Given the description of an element on the screen output the (x, y) to click on. 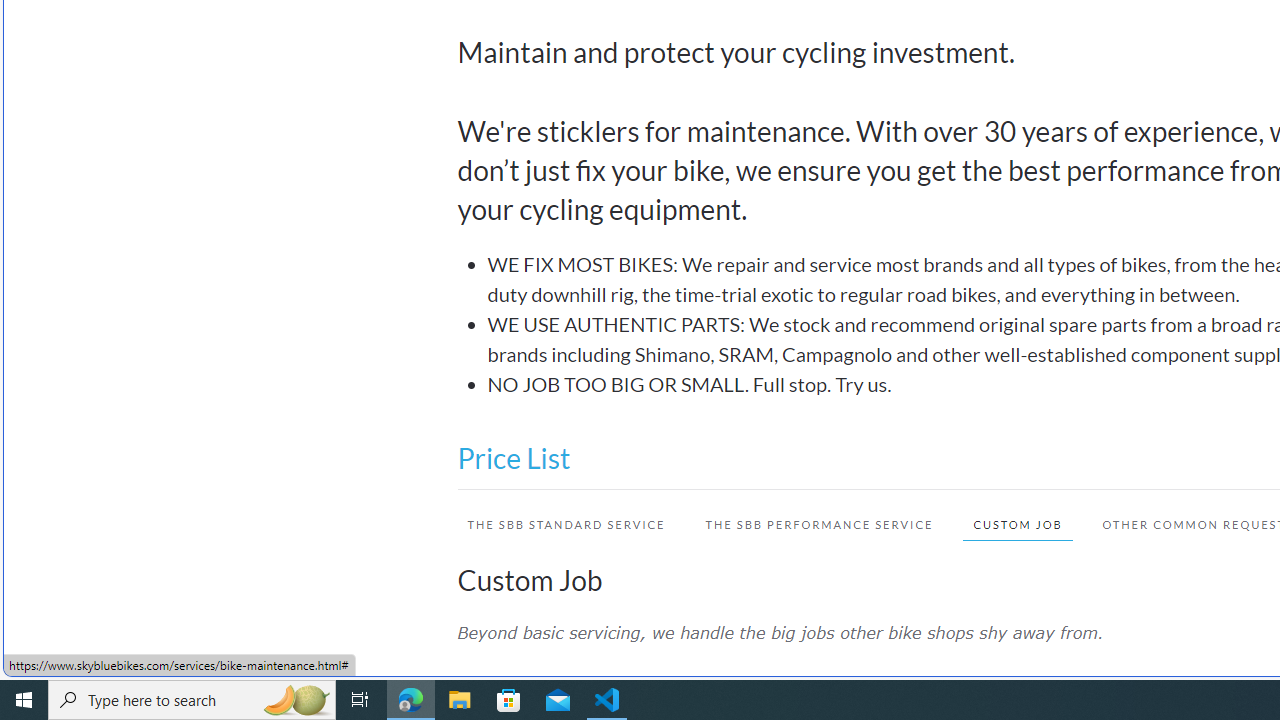
THE SBB STANDARD SERVICE (555, 524)
THE SBB PERFORMANCE SERVICE (819, 524)
THE SBB PERFORMANCE SERVICE (809, 524)
THE SBB STANDARD SERVICE (565, 524)
CUSTOM JOB (1017, 524)
CUSTOM JOB (1007, 524)
